Given the description of an element on the screen output the (x, y) to click on. 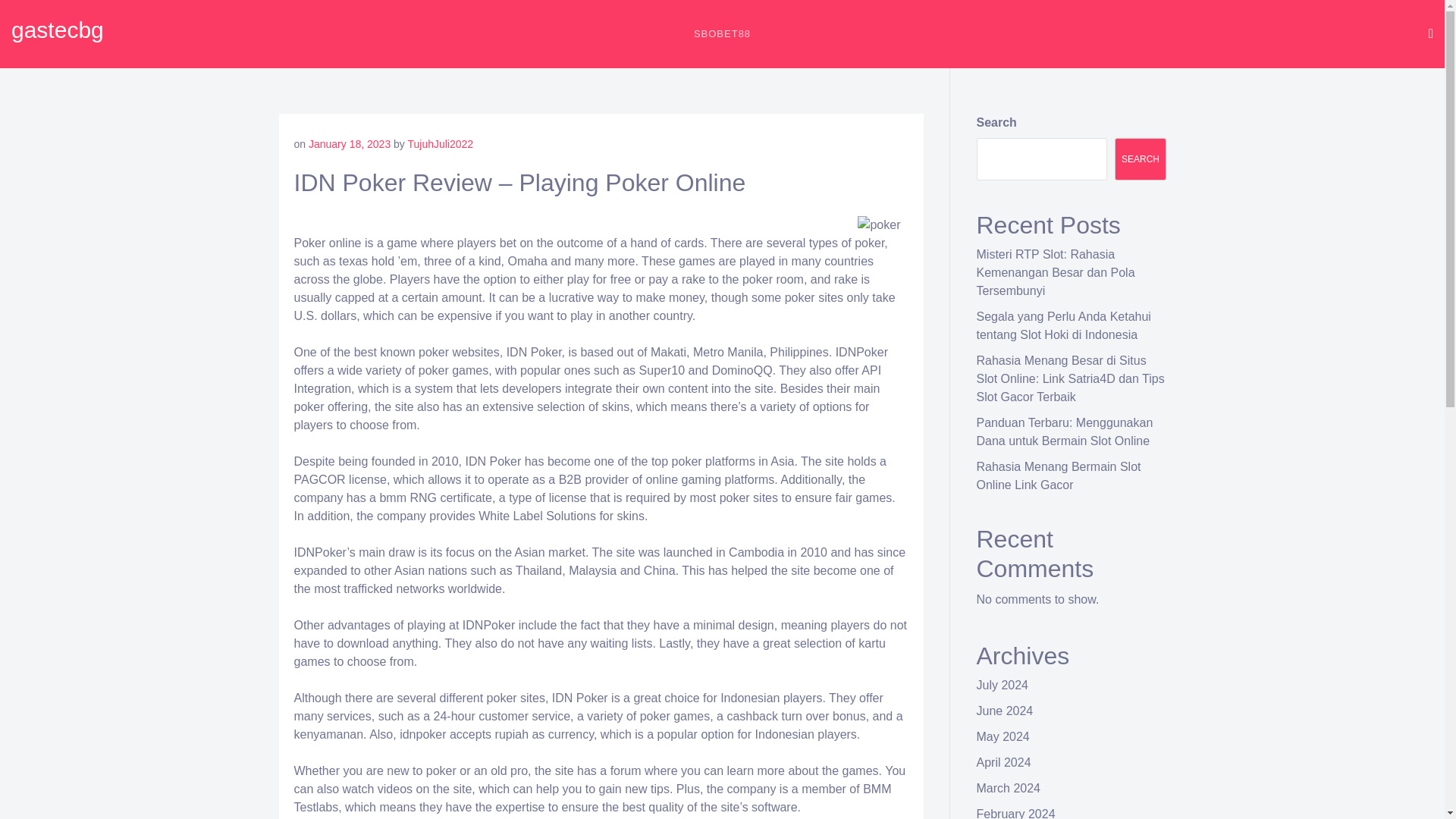
January 18, 2023 (349, 143)
SEARCH (1140, 159)
February 2024 (1015, 813)
TujuhJuli2022 (440, 143)
March 2024 (1008, 788)
Rahasia Menang Bermain Slot Online Link Gacor (1058, 475)
gastecbg (57, 29)
April 2024 (1003, 762)
July 2024 (1002, 684)
Panduan Terbaru: Menggunakan Dana untuk Bermain Slot Online (1064, 431)
SBOBET88 (721, 33)
